Given the description of an element on the screen output the (x, y) to click on. 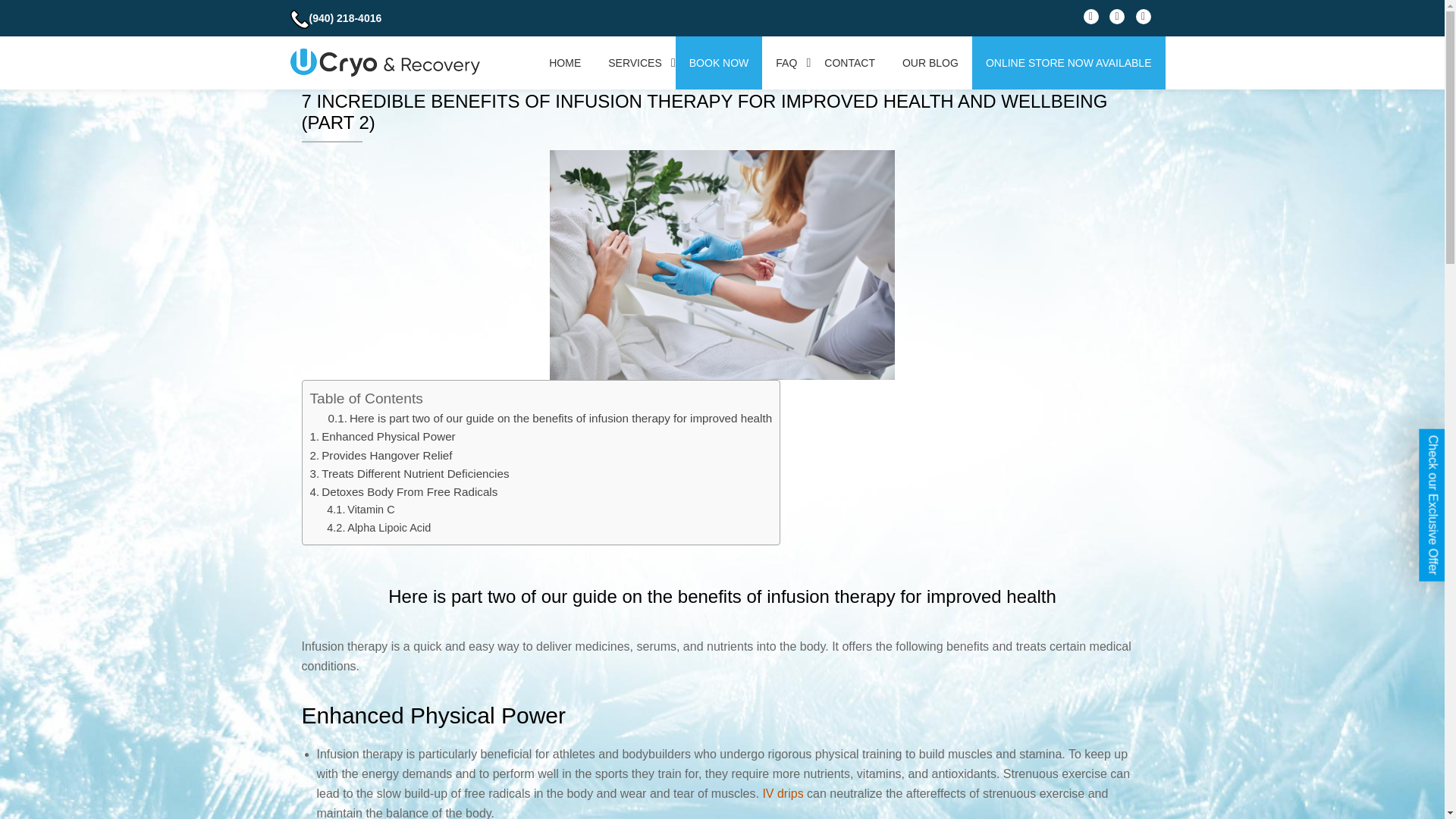
Enhanced Physical Power (381, 436)
Alpha Lipoic Acid (378, 527)
FAQ (786, 62)
CONTACT (849, 62)
Provides Hangover Relief  (381, 454)
Detoxes Body From Free Radicals (402, 491)
Detoxes Body From Free Radicals (402, 491)
ONLINE STORE NOW AVAILABLE (1068, 62)
OUR BLOG (930, 62)
Treats Different Nutrient Deficiencies (408, 472)
